Given the description of an element on the screen output the (x, y) to click on. 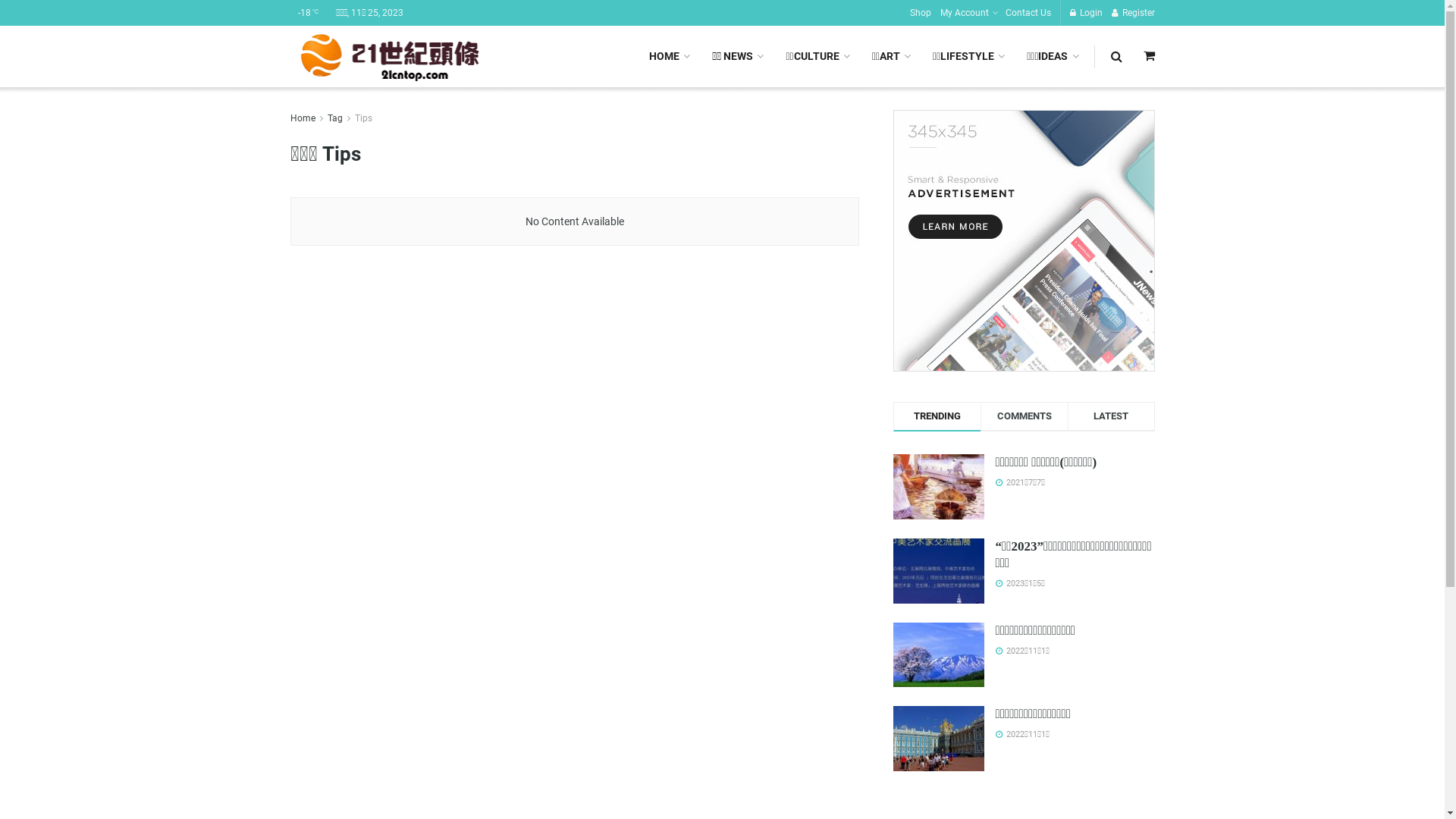
HOME Element type: text (668, 56)
Register Element type: text (1132, 12)
Shop Element type: text (920, 12)
Login Element type: text (1085, 12)
Tag Element type: text (334, 117)
My Account Element type: text (968, 12)
Home Element type: text (301, 117)
Tips Element type: text (363, 117)
Contact Us Element type: text (1028, 12)
